Given the description of an element on the screen output the (x, y) to click on. 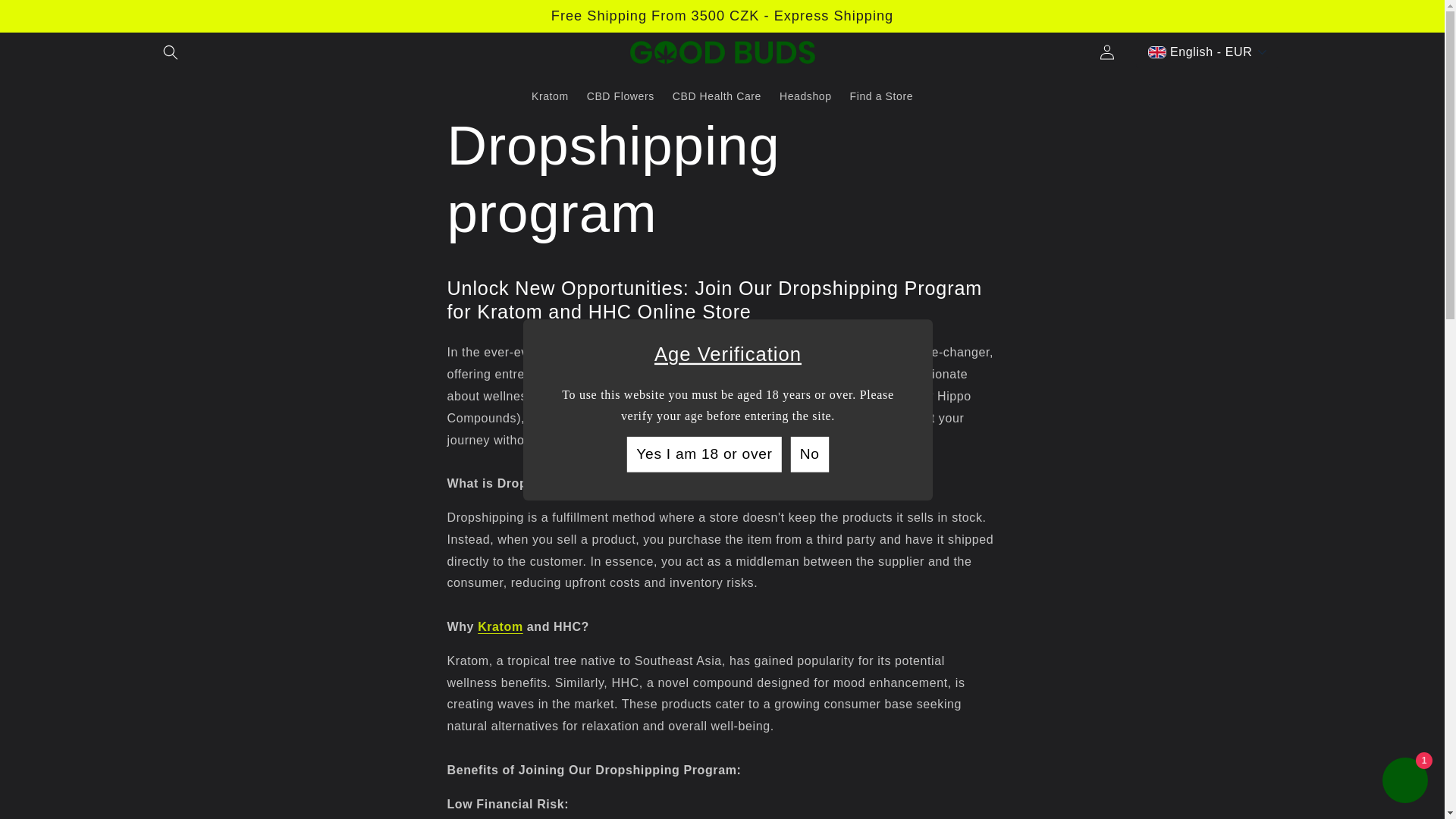
Headshop (805, 96)
Skip to content (45, 17)
Kratom (550, 96)
kratom (810, 395)
Kratom Nature's gift to you (499, 626)
Log in (1107, 52)
Kratom Nature's gift to you (810, 395)
Shopify online store chat (1404, 781)
CBD Flowers (620, 96)
Find a Store (881, 96)
Kratom (499, 626)
CBD Health Care (716, 96)
